Given the description of an element on the screen output the (x, y) to click on. 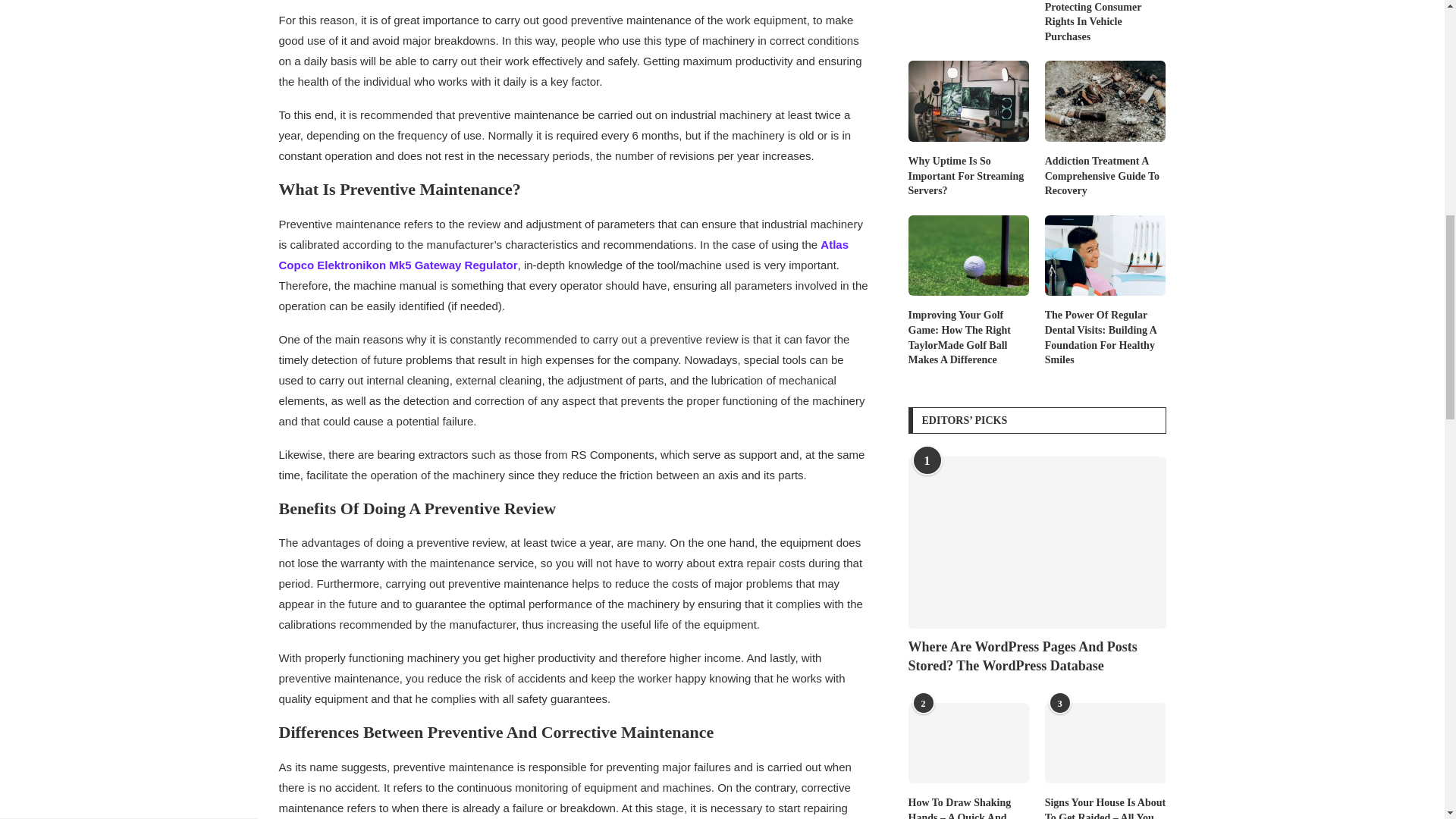
Atlas Copco Elektronikon Mk5 Gateway Regulator (563, 254)
